Given the description of an element on the screen output the (x, y) to click on. 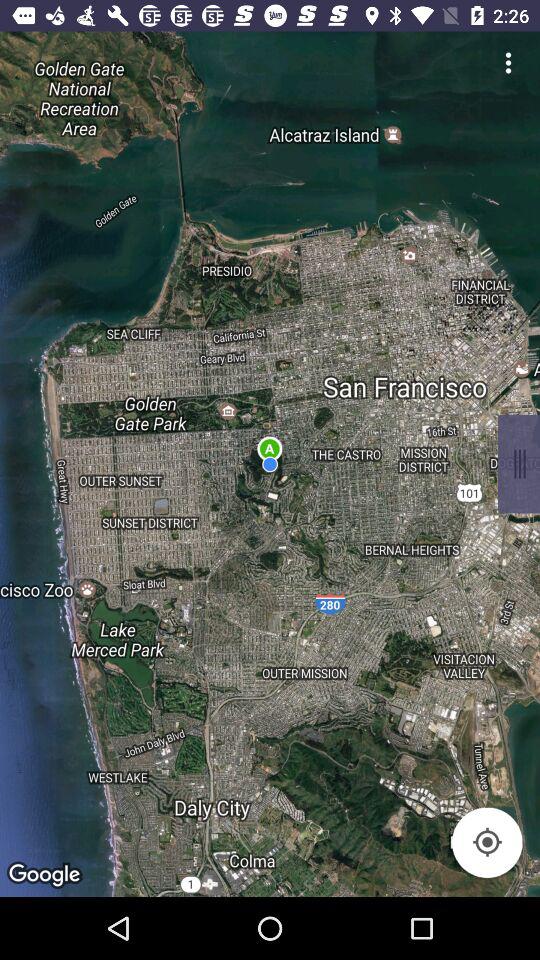
settings (508, 62)
